Given the description of an element on the screen output the (x, y) to click on. 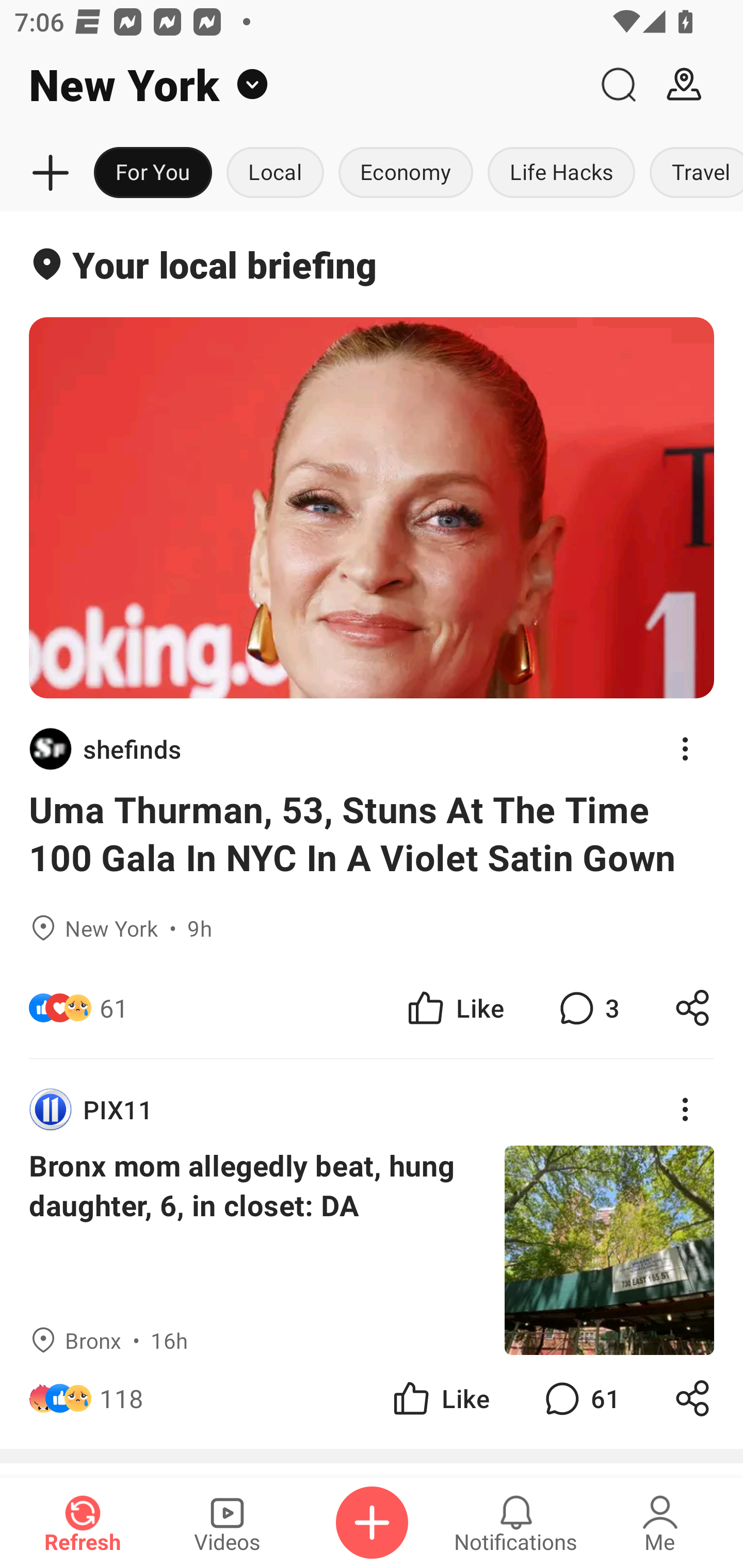
New York (292, 84)
For You (152, 172)
Local (275, 172)
Economy (405, 172)
Life Hacks (561, 172)
Travel (692, 172)
61 (244, 1007)
61 (113, 1007)
Like (454, 1007)
3 (587, 1007)
118 (244, 1397)
118 (121, 1397)
Like (439, 1397)
61 (579, 1397)
Videos (227, 1522)
Notifications (516, 1522)
Me (659, 1522)
